Given the description of an element on the screen output the (x, y) to click on. 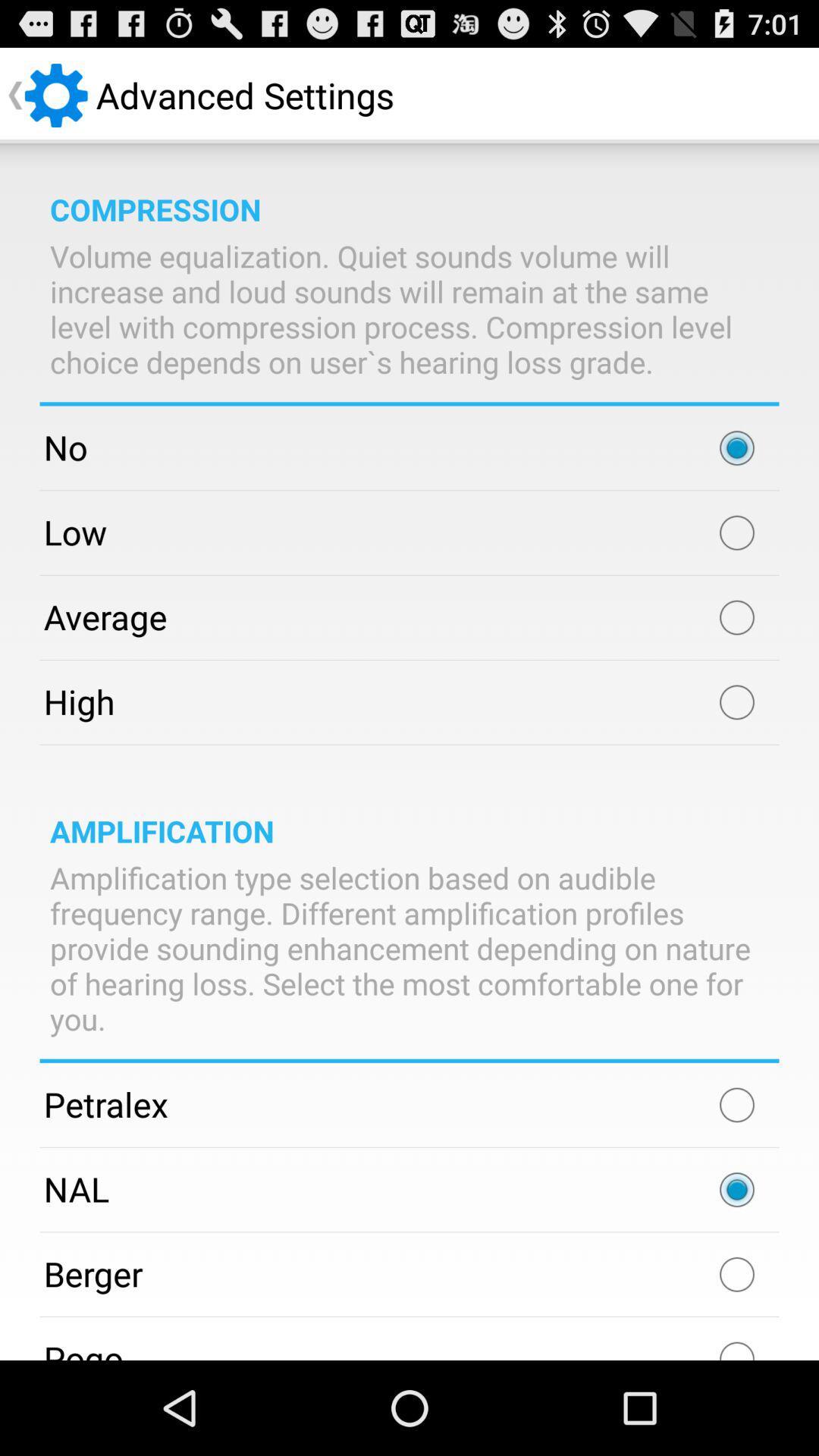
select average (736, 617)
